Given the description of an element on the screen output the (x, y) to click on. 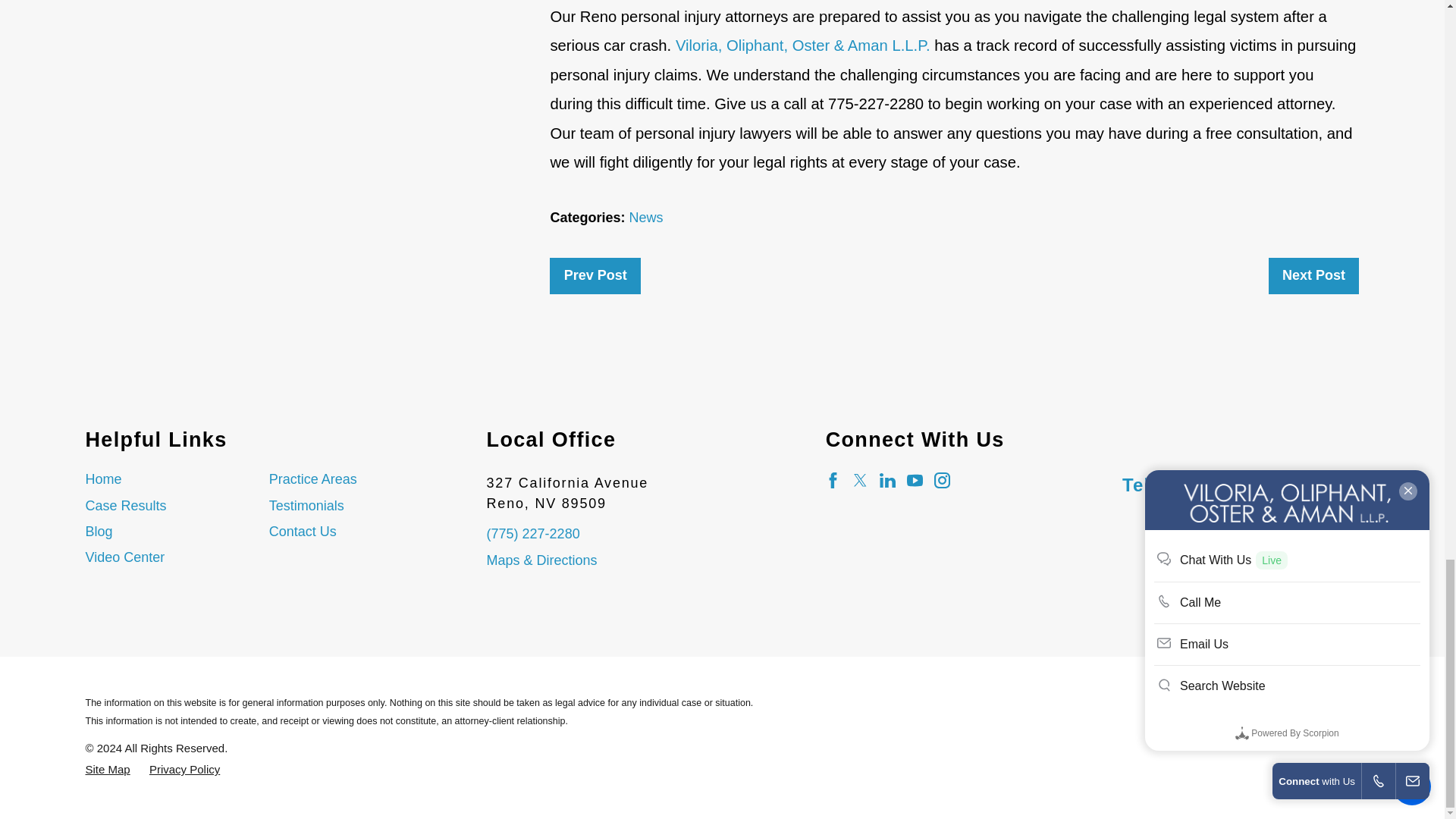
Instagram (942, 480)
Twitter (859, 480)
LinkedIn (887, 480)
YouTube (915, 480)
Facebook (833, 480)
